Given the description of an element on the screen output the (x, y) to click on. 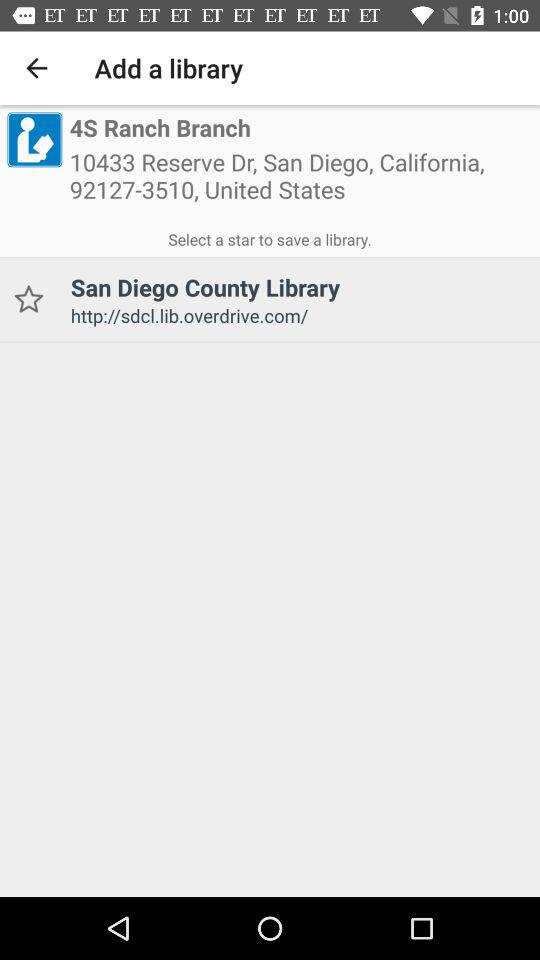
turn off the icon below select a star (28, 299)
